Given the description of an element on the screen output the (x, y) to click on. 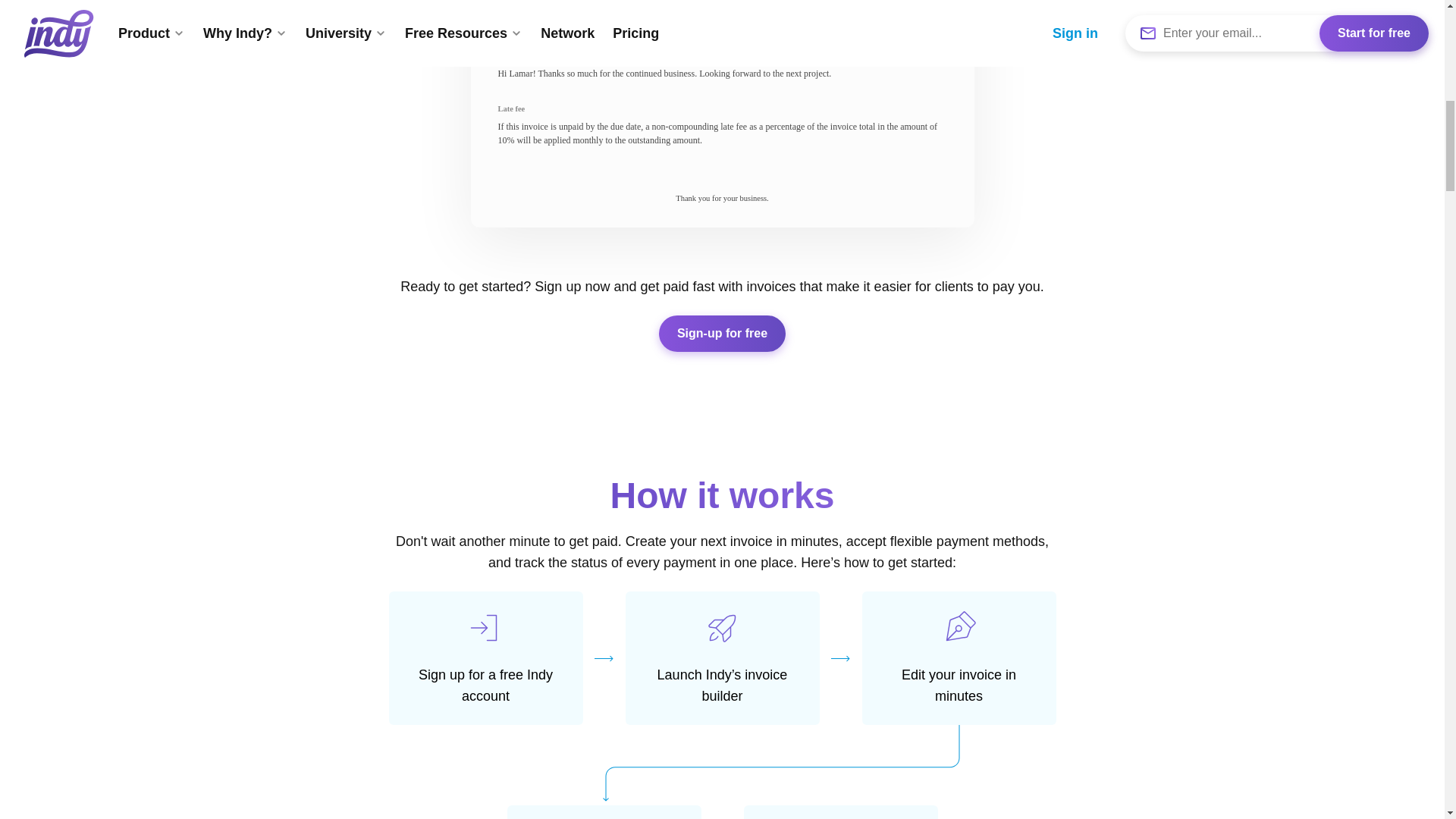
Sign-up for free (722, 333)
